Given the description of an element on the screen output the (x, y) to click on. 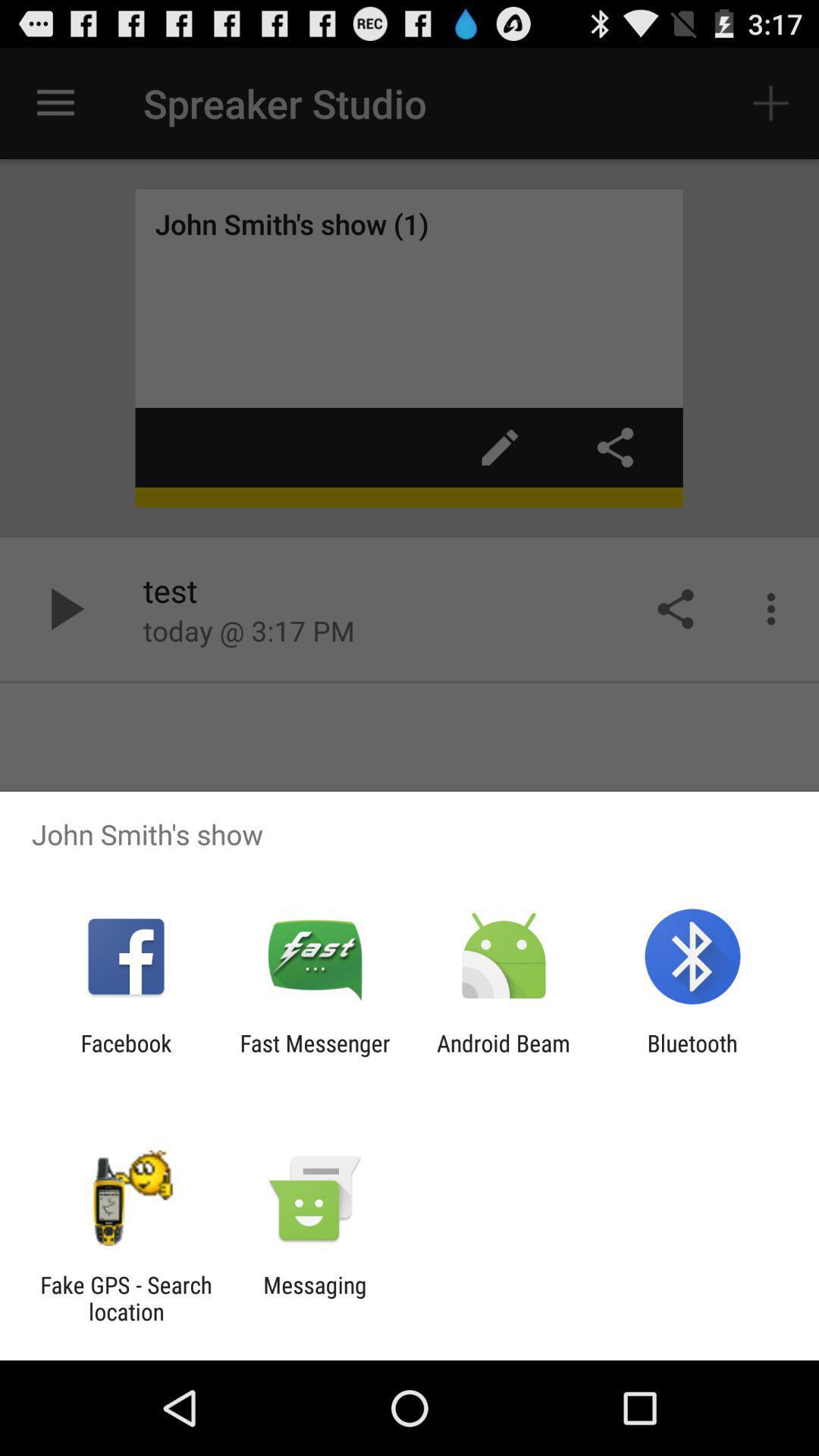
click facebook item (125, 1056)
